Given the description of an element on the screen output the (x, y) to click on. 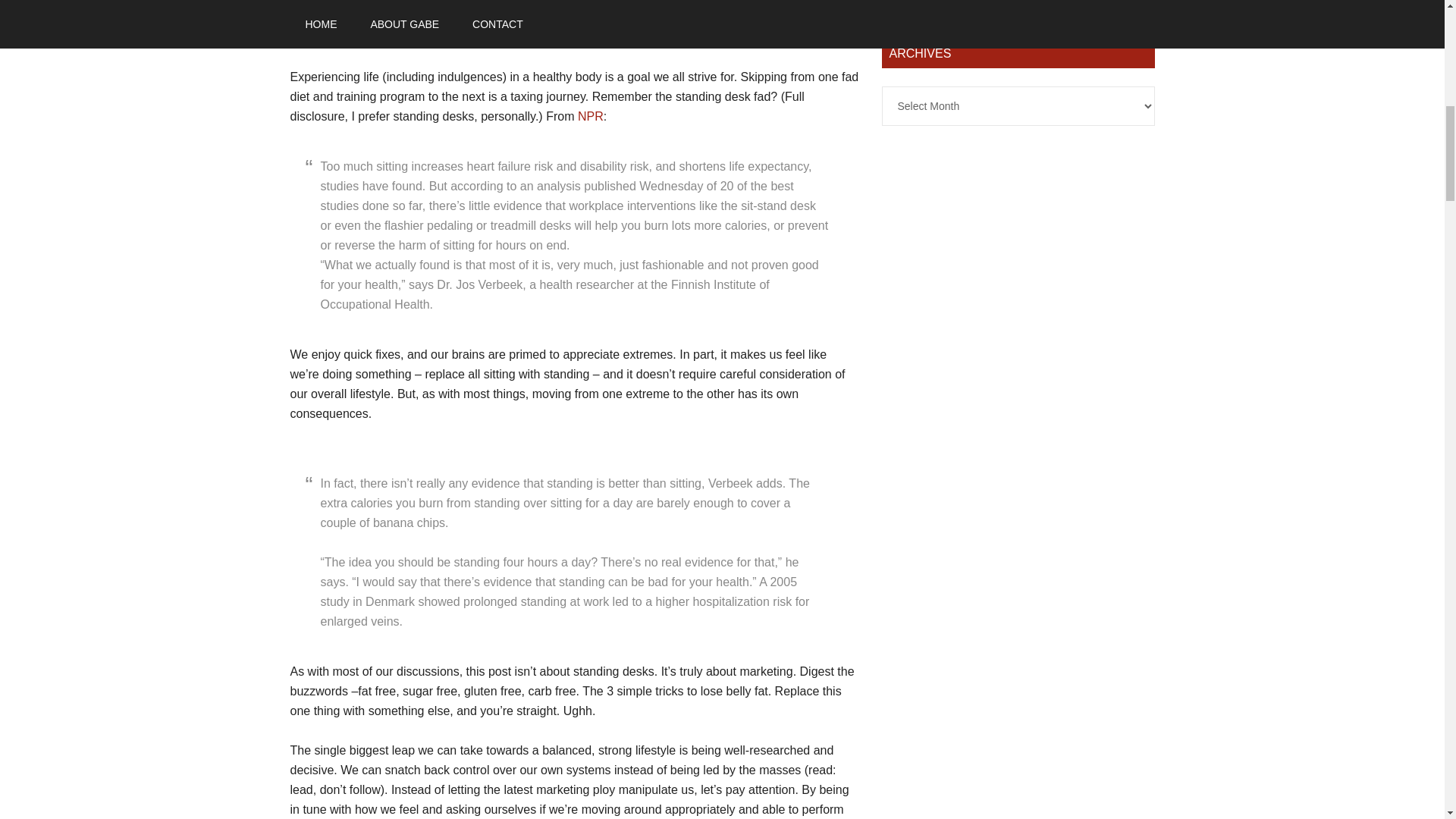
NPR (591, 115)
